Given the description of an element on the screen output the (x, y) to click on. 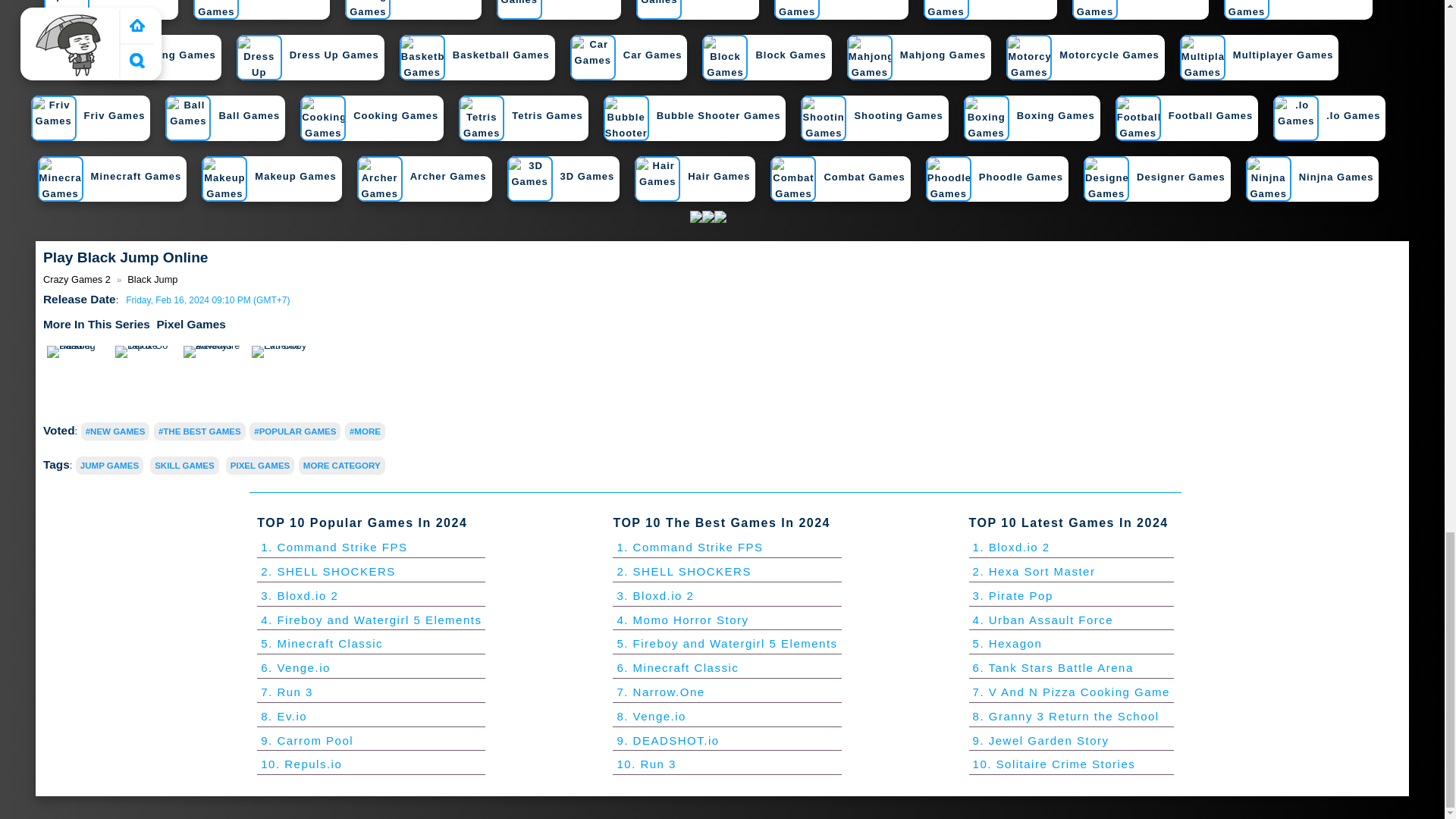
Racing Games (410, 9)
Arcade Games (258, 9)
Skill Games (183, 465)
Jump Games (108, 465)
Action Games (838, 9)
Skill Games (695, 9)
Girls Games (555, 9)
Pixel games (190, 323)
Sports Games (108, 9)
Puzzle Games (987, 9)
Black Jump (152, 279)
Crazy Games 2 (76, 279)
